Given the description of an element on the screen output the (x, y) to click on. 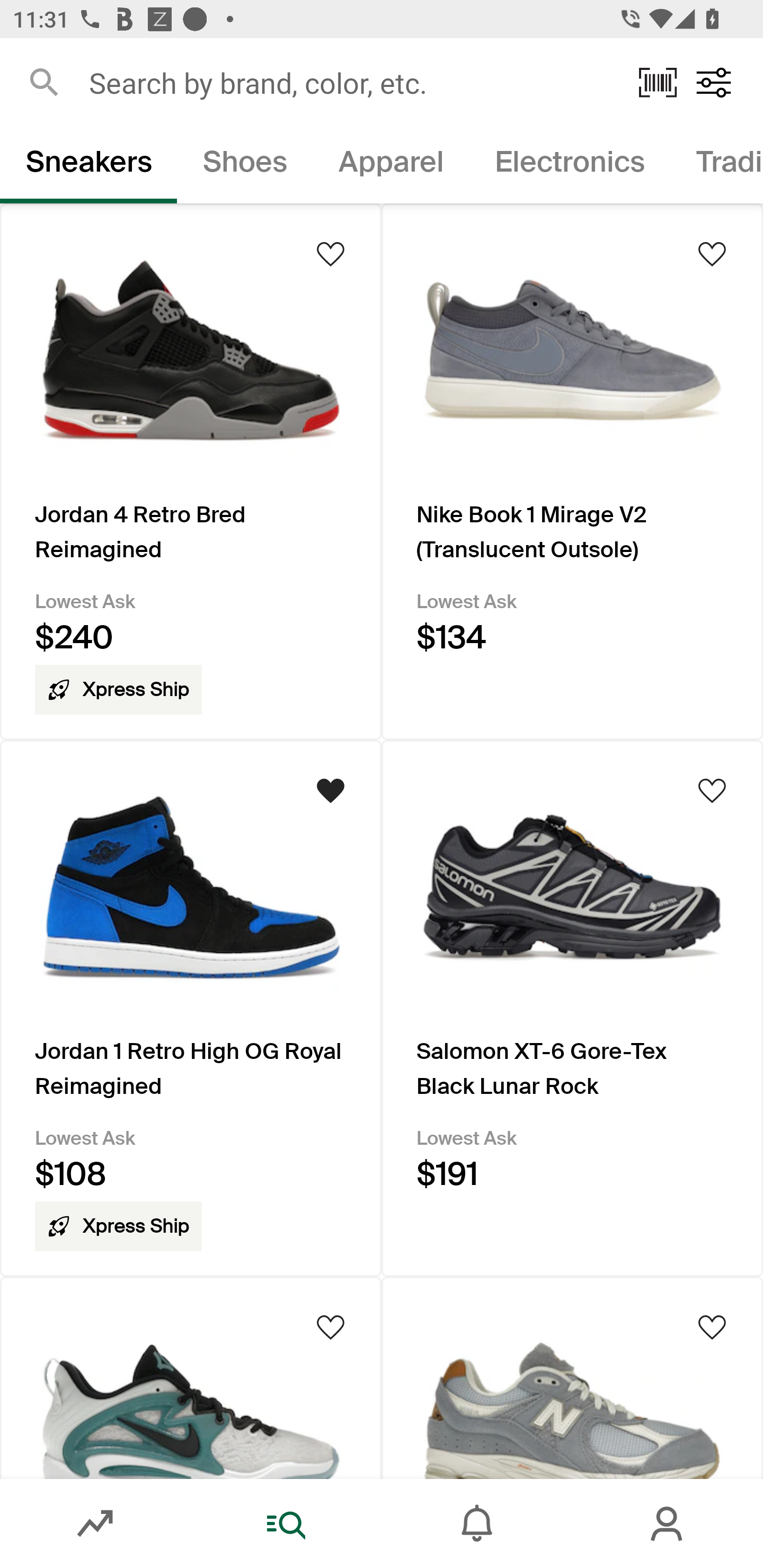
Search by brand, color, etc. (351, 82)
Shoes (244, 165)
Apparel (390, 165)
Electronics (569, 165)
Product Image (190, 1377)
Product Image (572, 1377)
Market (95, 1523)
Inbox (476, 1523)
Account (667, 1523)
